Given the description of an element on the screen output the (x, y) to click on. 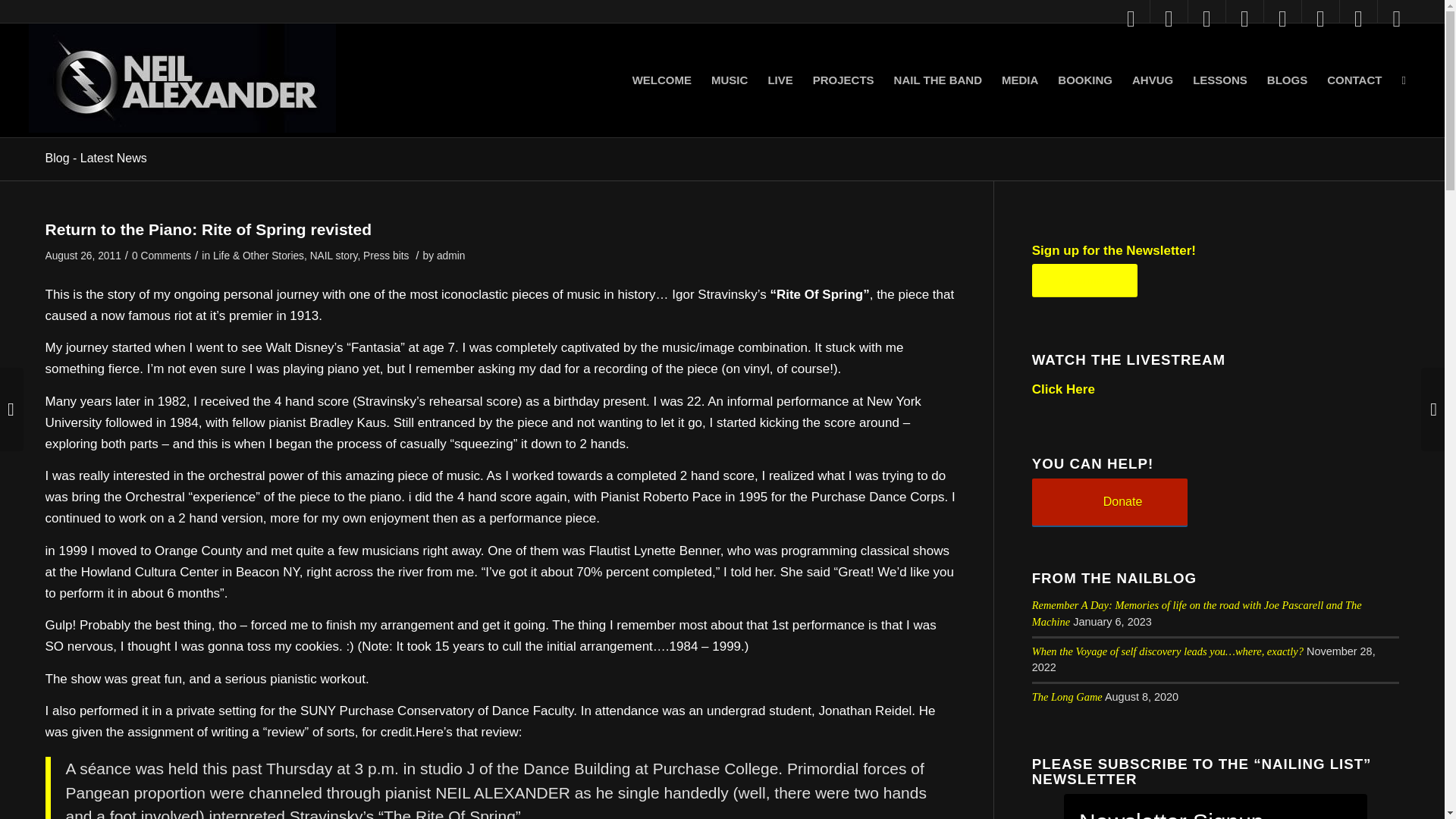
Instagram (1396, 18)
LinkedIn (1358, 18)
Youtube (1206, 18)
Permanent Link: Return to the Piano: Rite of Spring revisted (208, 229)
Flickr (1282, 18)
Soundcloud (1244, 18)
Vimeo (1320, 18)
Permanent Link: Blog - Latest News (96, 157)
Facebook (1169, 18)
Instagram (1131, 18)
